Given the description of an element on the screen output the (x, y) to click on. 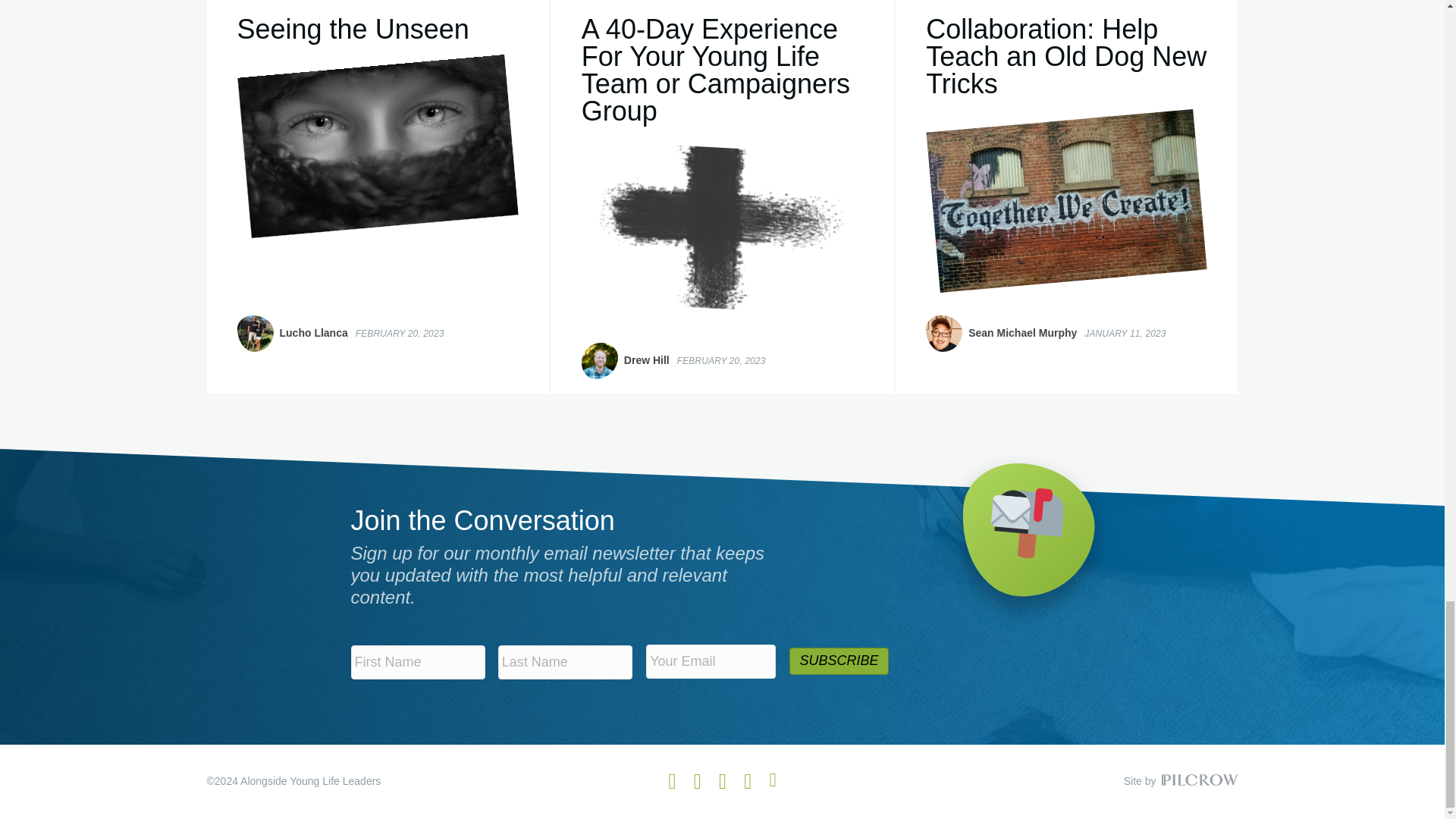
Subscribe (838, 660)
